Given the description of an element on the screen output the (x, y) to click on. 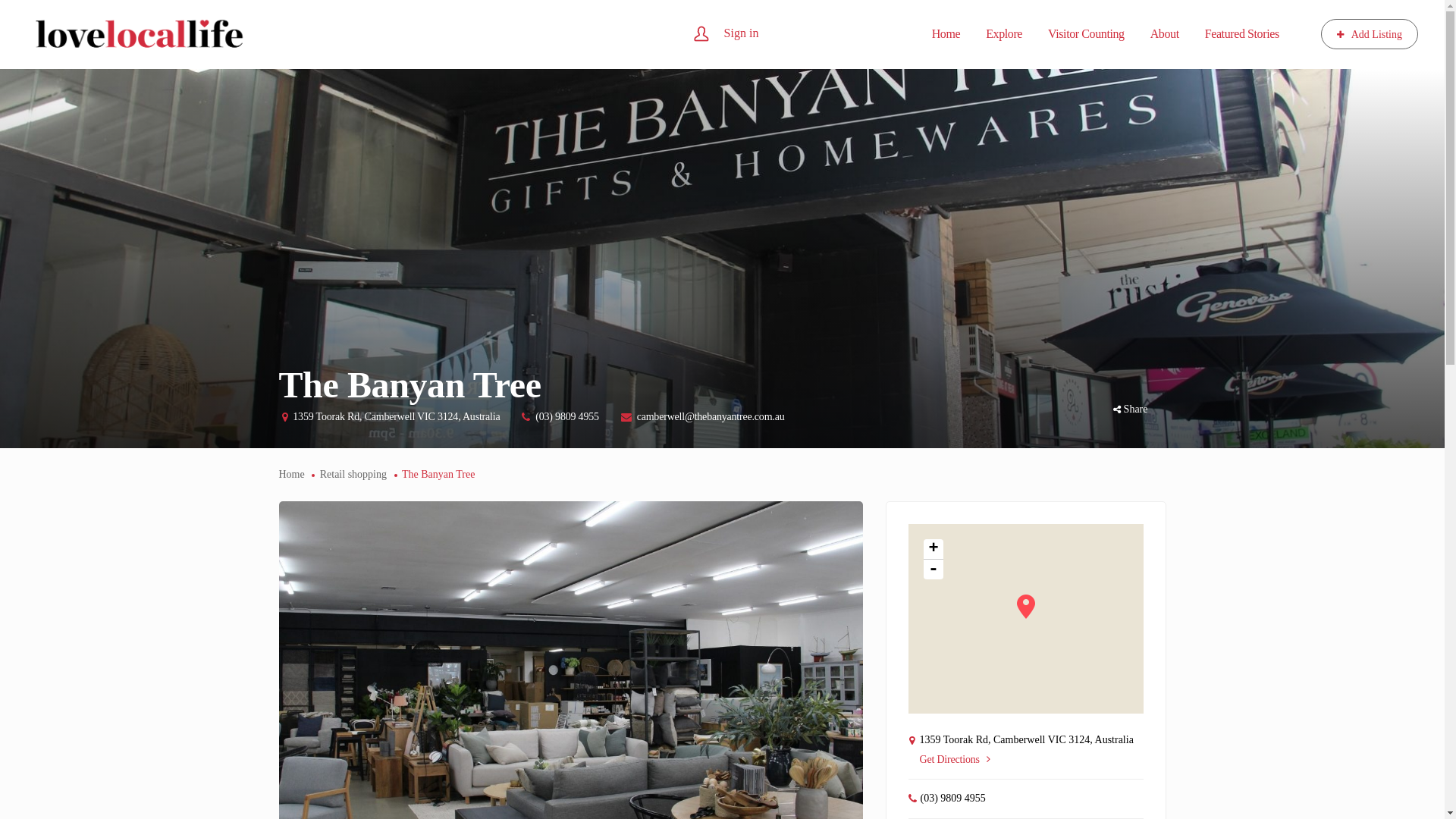
Add Listing Element type: text (1369, 33)
Featured Stories Element type: text (1241, 34)
Share Element type: text (1130, 408)
Sign in Element type: text (741, 31)
+ Element type: text (933, 549)
(03) 9809 4955 Element type: text (952, 797)
Home Element type: text (291, 474)
Retail shopping Element type: text (353, 474)
About Element type: text (1164, 34)
(03) 9809 4955 Element type: text (567, 416)
Explore Element type: text (1003, 34)
Visitor Counting Element type: text (1085, 34)
- Element type: text (933, 569)
camberwell@thebanyantree.com.au Element type: text (710, 416)
Get Directions Element type: text (954, 759)
Home Element type: text (945, 34)
